Given the description of an element on the screen output the (x, y) to click on. 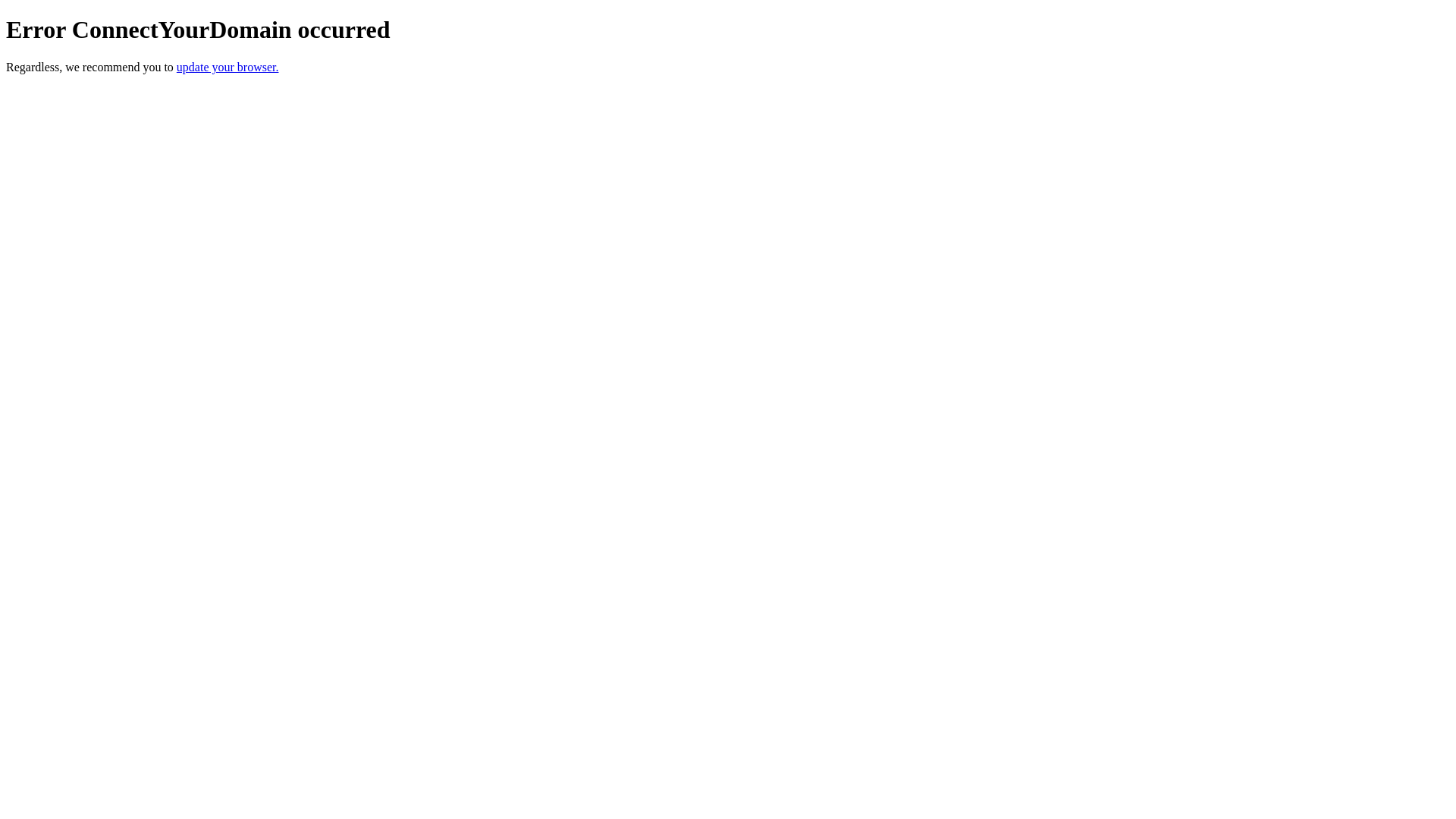
update your browser. Element type: text (227, 66)
